Given the description of an element on the screen output the (x, y) to click on. 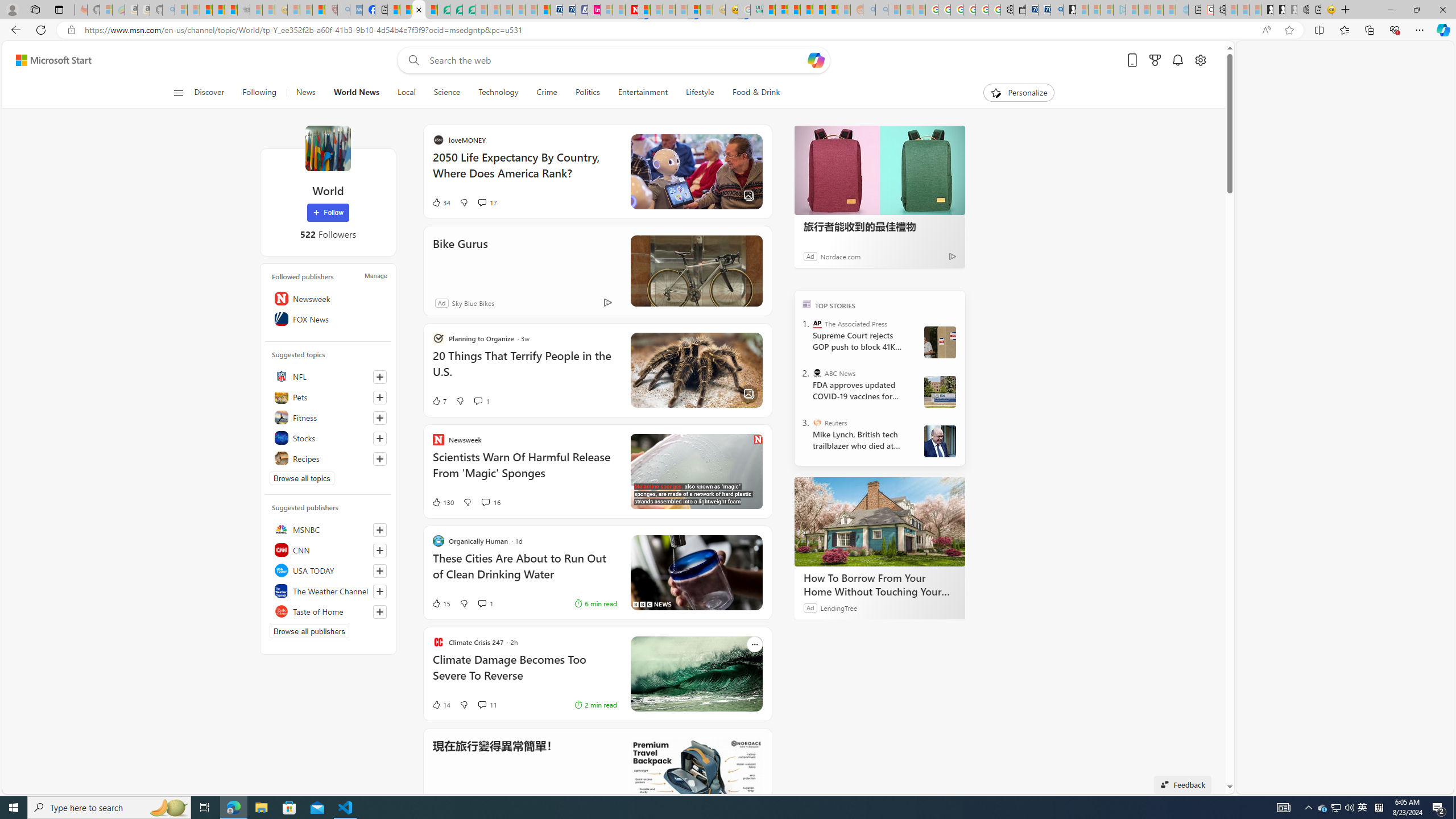
7 Like (547, 400)
TOP (806, 302)
New Report Confirms 2023 Was Record Hot | Watch (230, 9)
View comments 17 Comment (596, 202)
USA TODAY (327, 570)
Wallet (1019, 9)
Browse all publishers (309, 631)
View comments 16 Comment (485, 501)
